Given the description of an element on the screen output the (x, y) to click on. 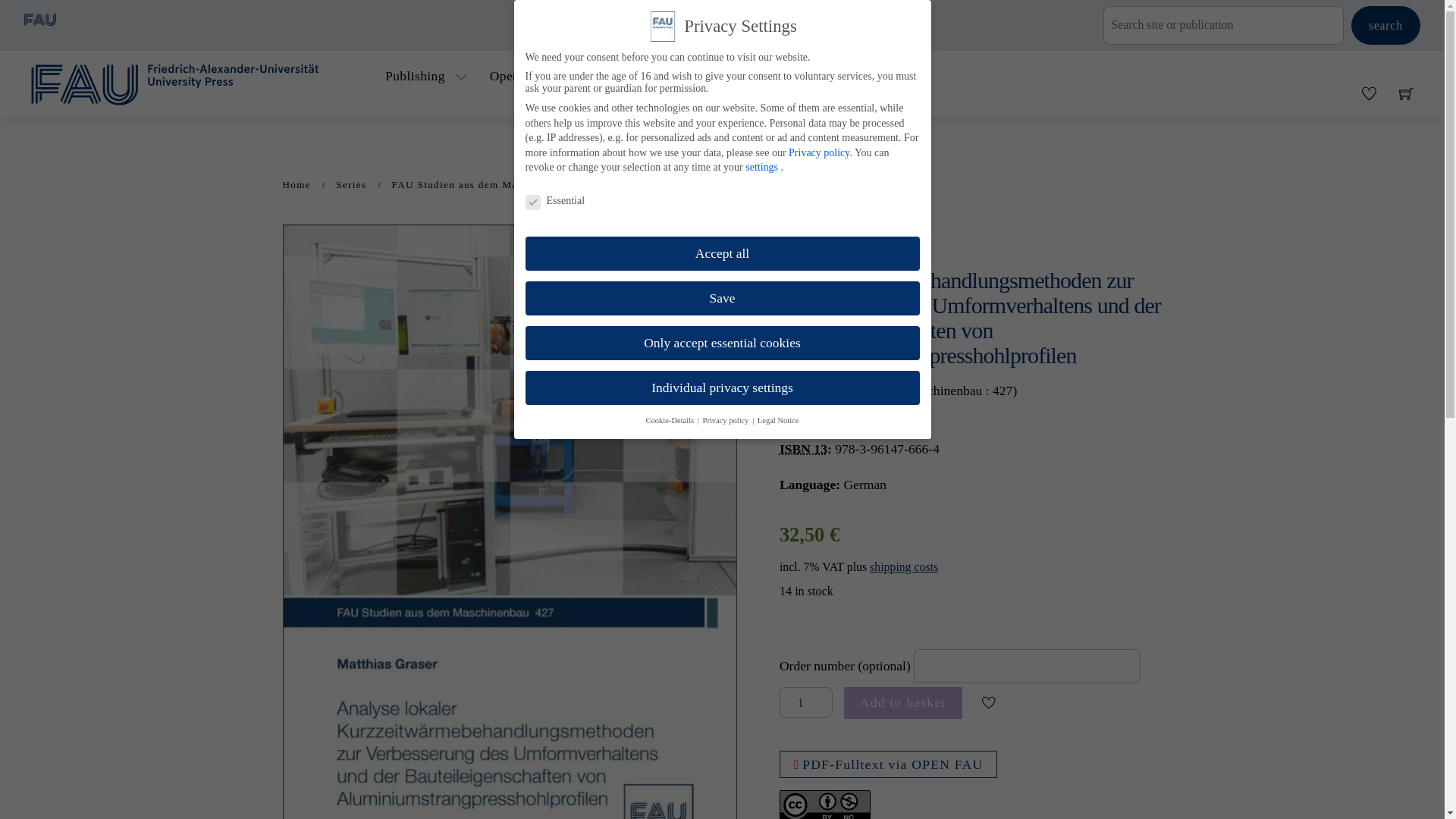
Open Science (528, 76)
FAU University Press (191, 82)
1 (805, 702)
search (1386, 25)
Publishing (428, 76)
Editors (603, 76)
Internationale Standardbuchnummer (802, 448)
Shop (673, 76)
ROR (879, 233)
